Given the description of an element on the screen output the (x, y) to click on. 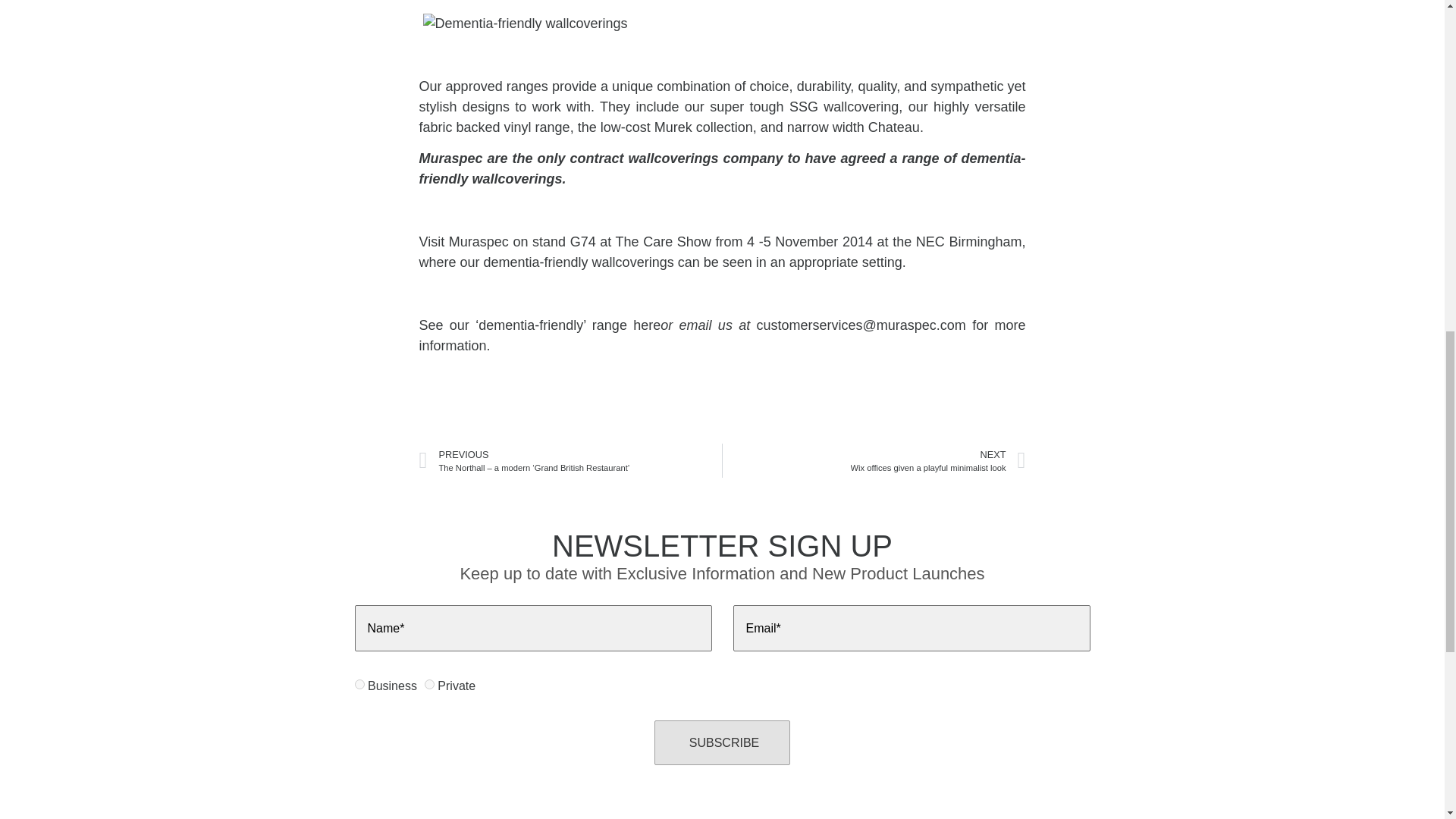
Private (429, 684)
Dementia-friendly wallcoverings (525, 23)
Business (360, 684)
